Given the description of an element on the screen output the (x, y) to click on. 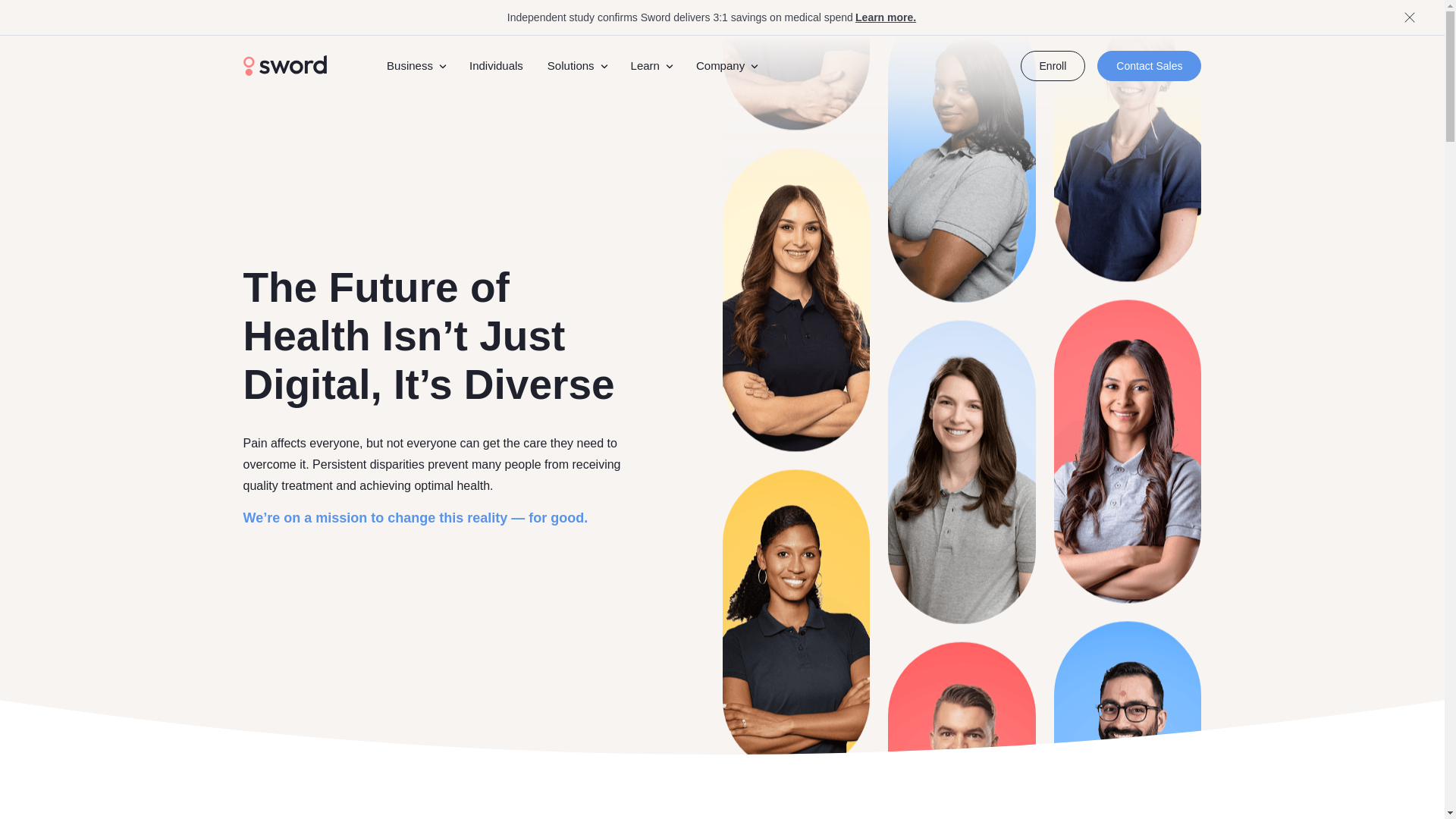
Enroll (1053, 65)
Individuals (495, 65)
Contact Sales (1149, 65)
Learn more. (884, 17)
